Given the description of an element on the screen output the (x, y) to click on. 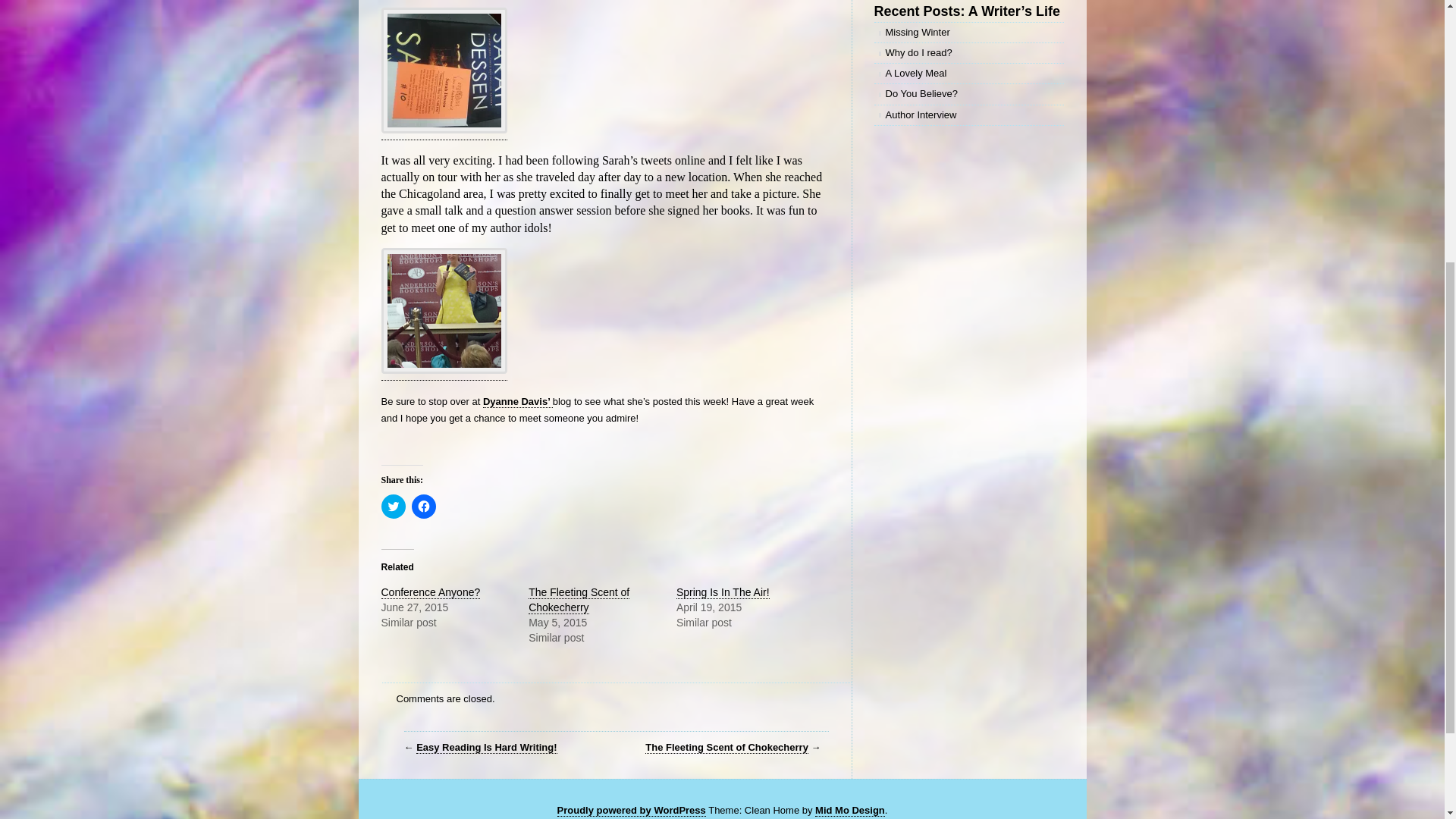
Mid Mo Design (850, 810)
Spring Is In The Air! (723, 592)
The Fleeting Scent of Chokecherry (726, 747)
Why do I read? (967, 53)
Author Interview (967, 115)
A Lovely Meal (967, 73)
The Fleeting Scent of Chokecherry (578, 600)
Spring Is In The Air! (723, 592)
Conference Anyone? (430, 592)
Do You Believe? (967, 94)
